Given the description of an element on the screen output the (x, y) to click on. 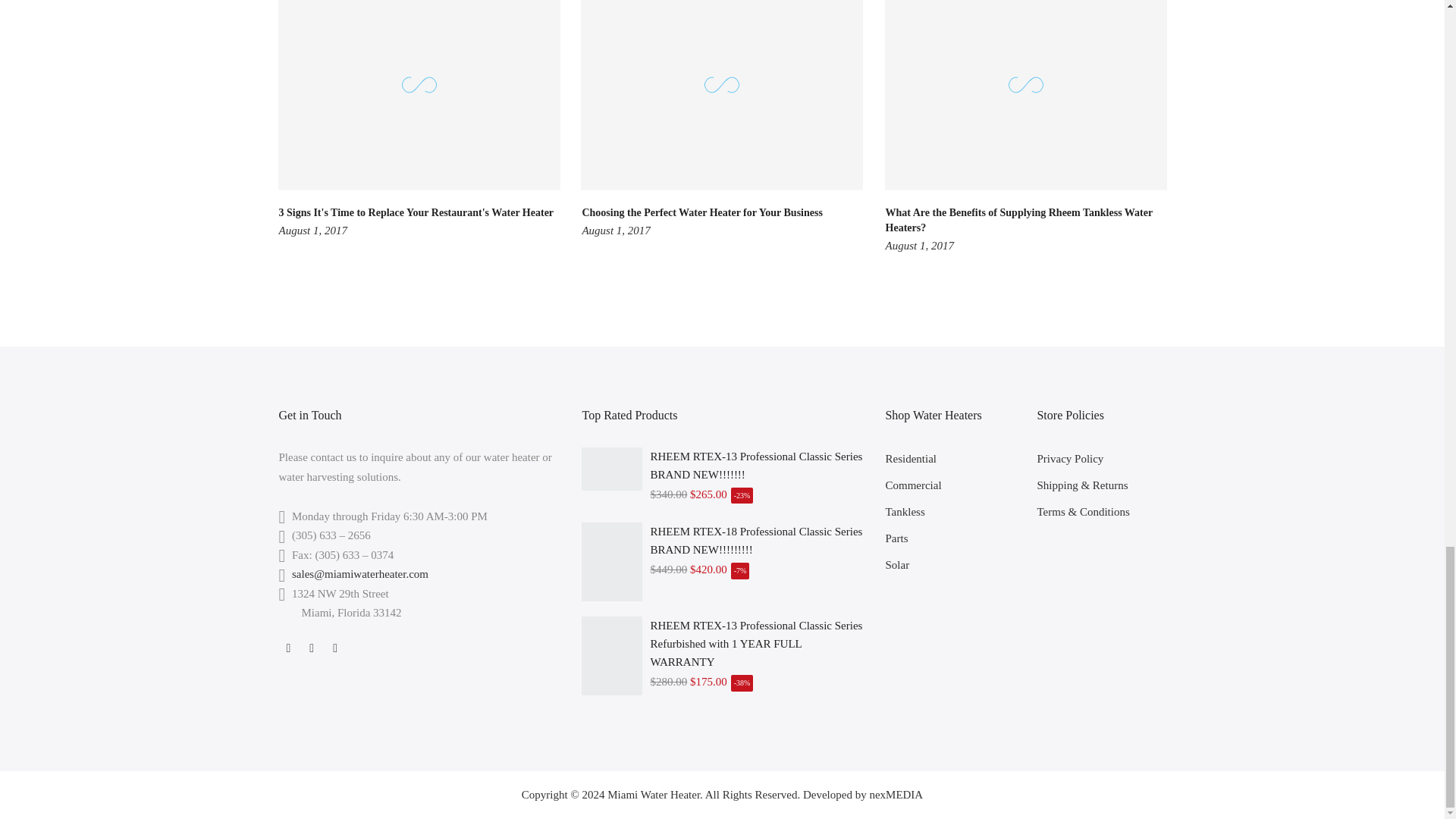
3 Signs It's Time to Replace Your Restaurant's Water Heater (416, 212)
Choosing the Perfect Water Heater for Your Business (701, 212)
